Given the description of an element on the screen output the (x, y) to click on. 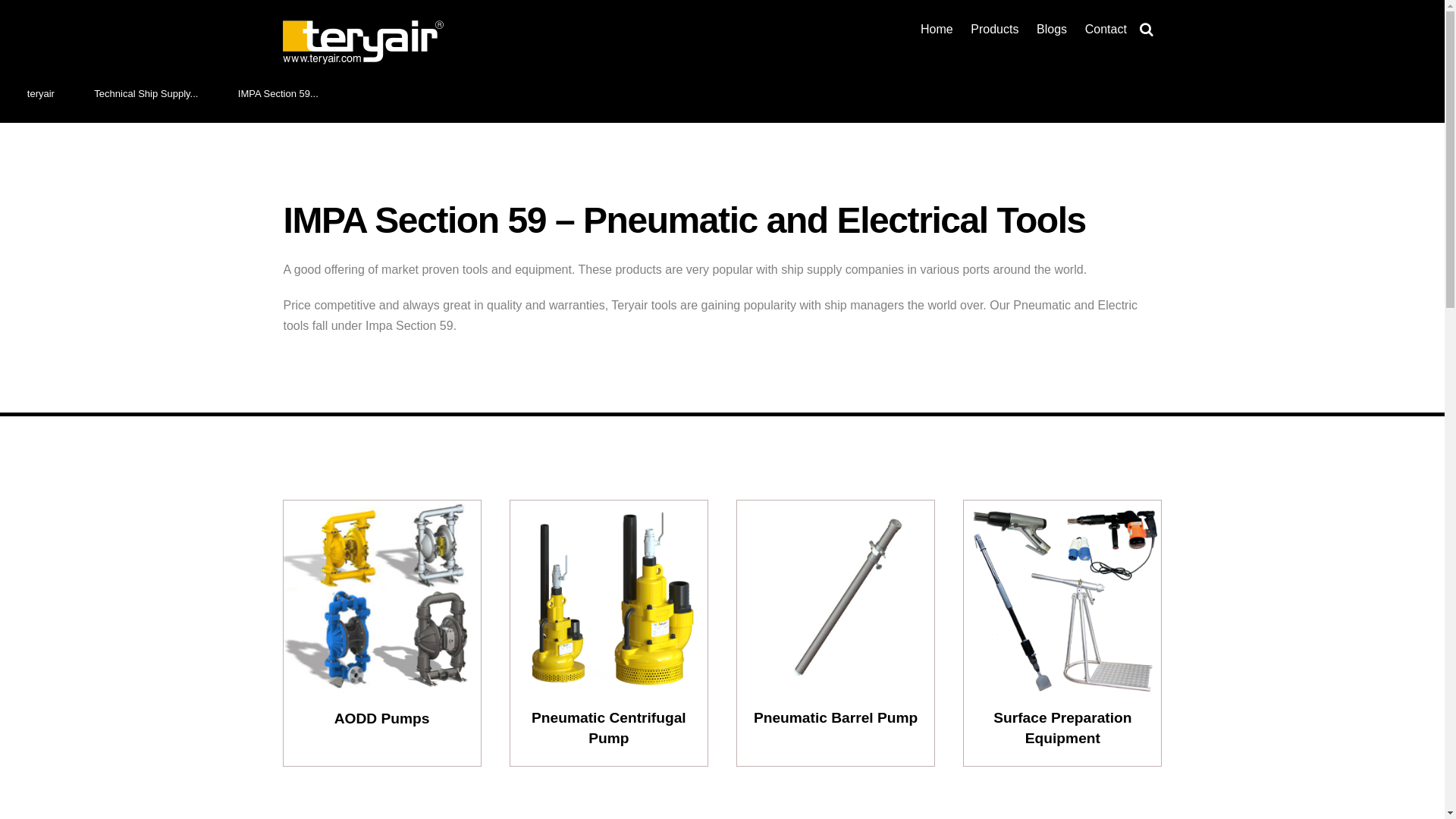
teryair (41, 93)
Pneumatic Barrel Pump (835, 597)
teryair (362, 42)
Technical Ship Supply Products (145, 93)
Surface Preparation Equipment (1061, 597)
Pneumatic Centrifugal Pump (609, 597)
Products (994, 29)
AODD Pumps (381, 597)
Home (935, 29)
